Given the description of an element on the screen output the (x, y) to click on. 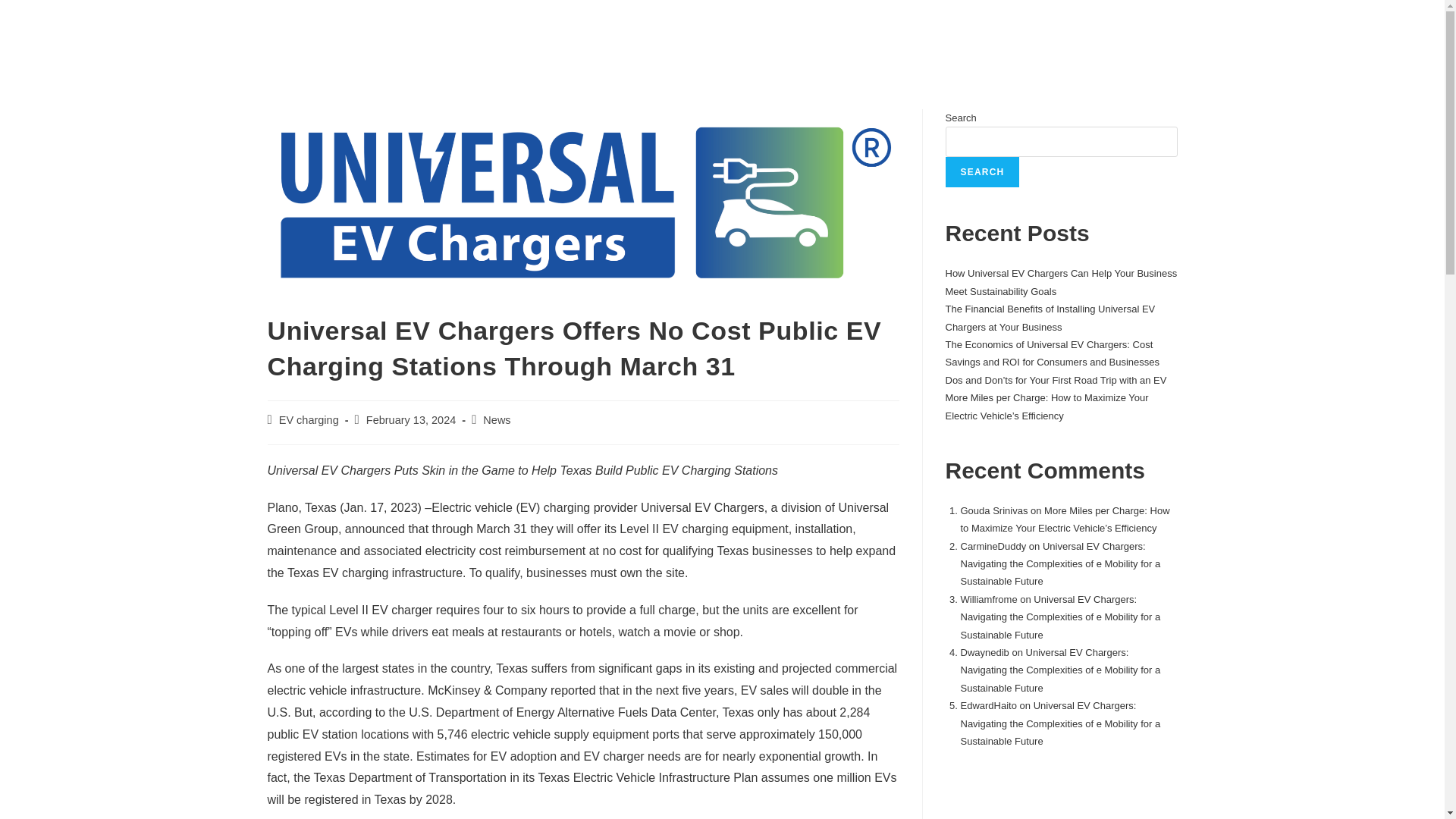
Home (672, 36)
Knowledge Center (1059, 39)
Products (524, 39)
Posts by EV charging (309, 419)
Services (818, 39)
About Us (422, 39)
Contact Us (923, 39)
